Given the description of an element on the screen output the (x, y) to click on. 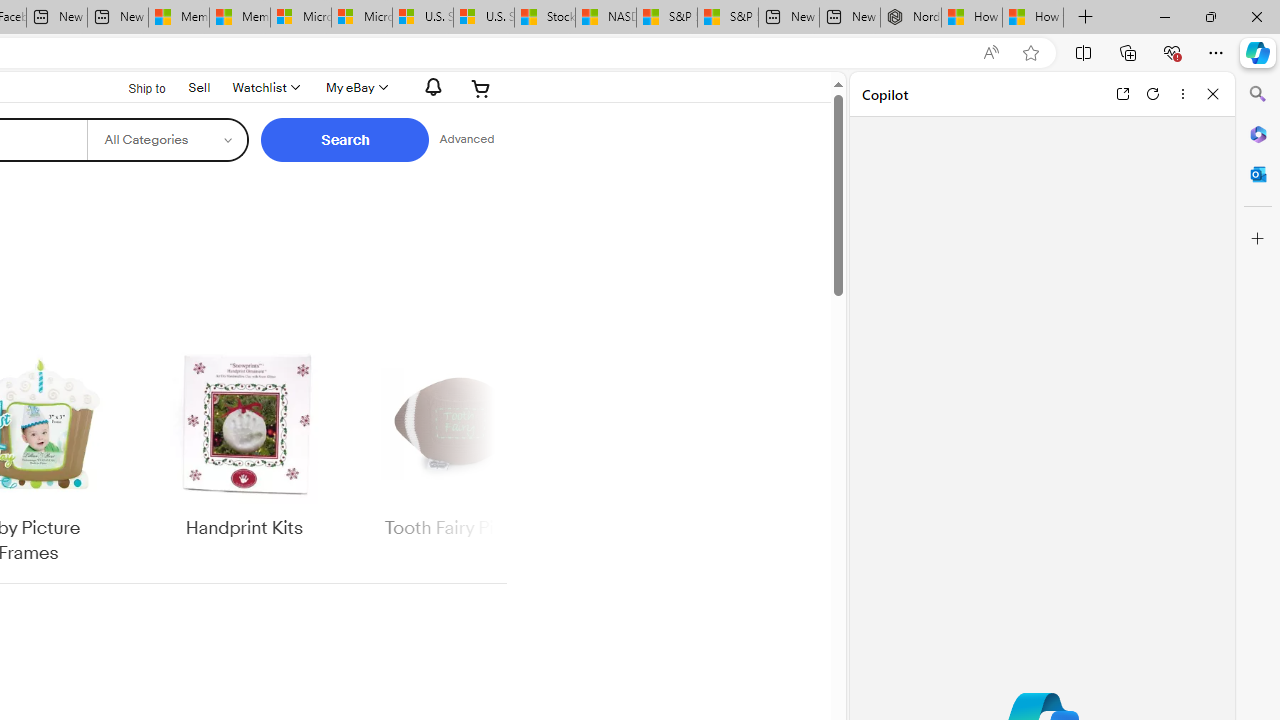
Ship to (134, 86)
Outlook (1258, 174)
Customize (1258, 239)
WatchlistExpand Watch List (264, 88)
Ship to (134, 89)
